Given the description of an element on the screen output the (x, y) to click on. 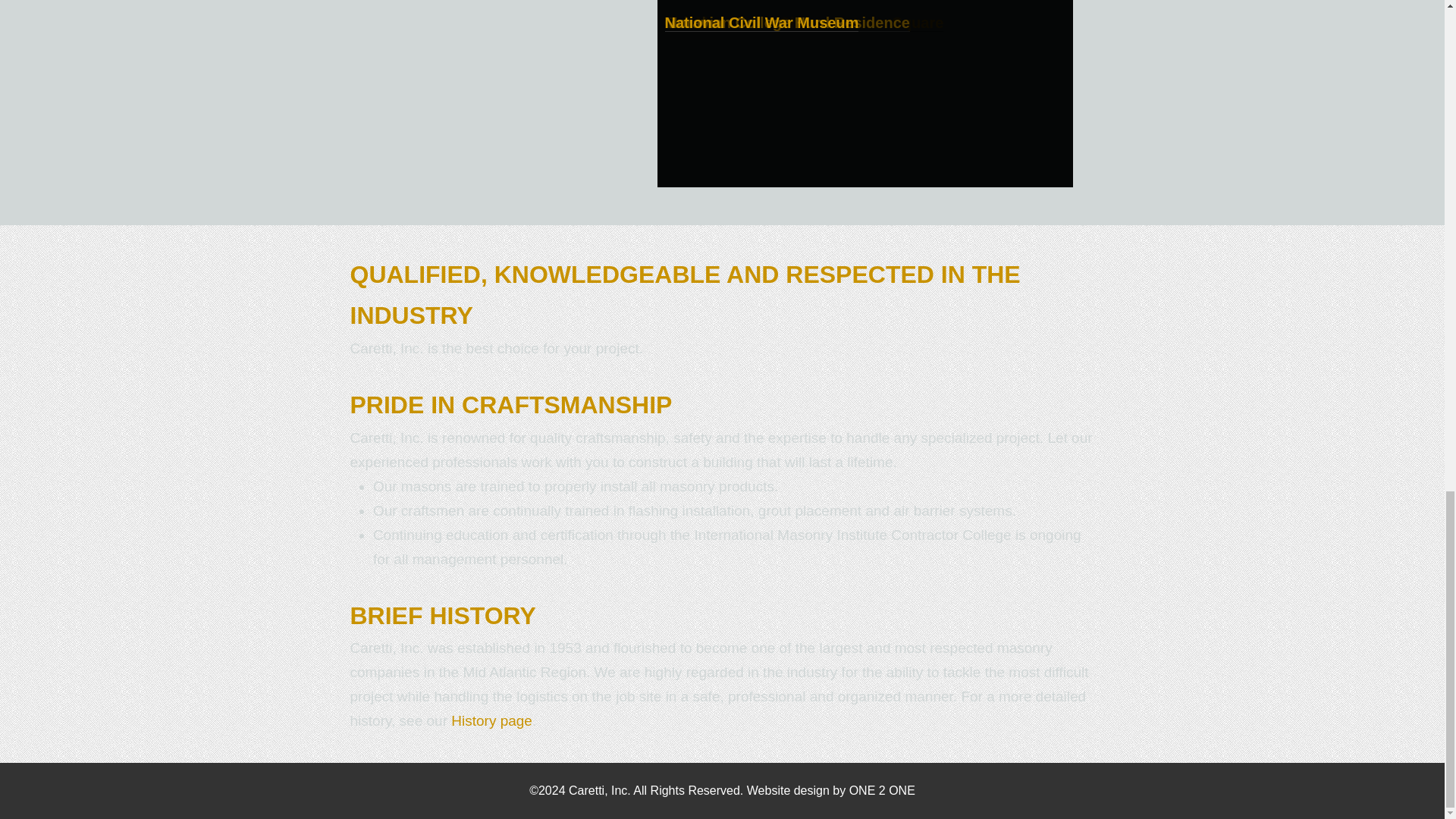
Website design (787, 790)
ONE 2 ONE (881, 790)
National Civil War Museum (761, 22)
The Museum at Chocolatetown Square (803, 22)
Moravian College Hurd Residence (785, 22)
History page (491, 720)
Website Design (787, 790)
ONE 2 ONE (881, 790)
Cabelas (692, 22)
